Given the description of an element on the screen output the (x, y) to click on. 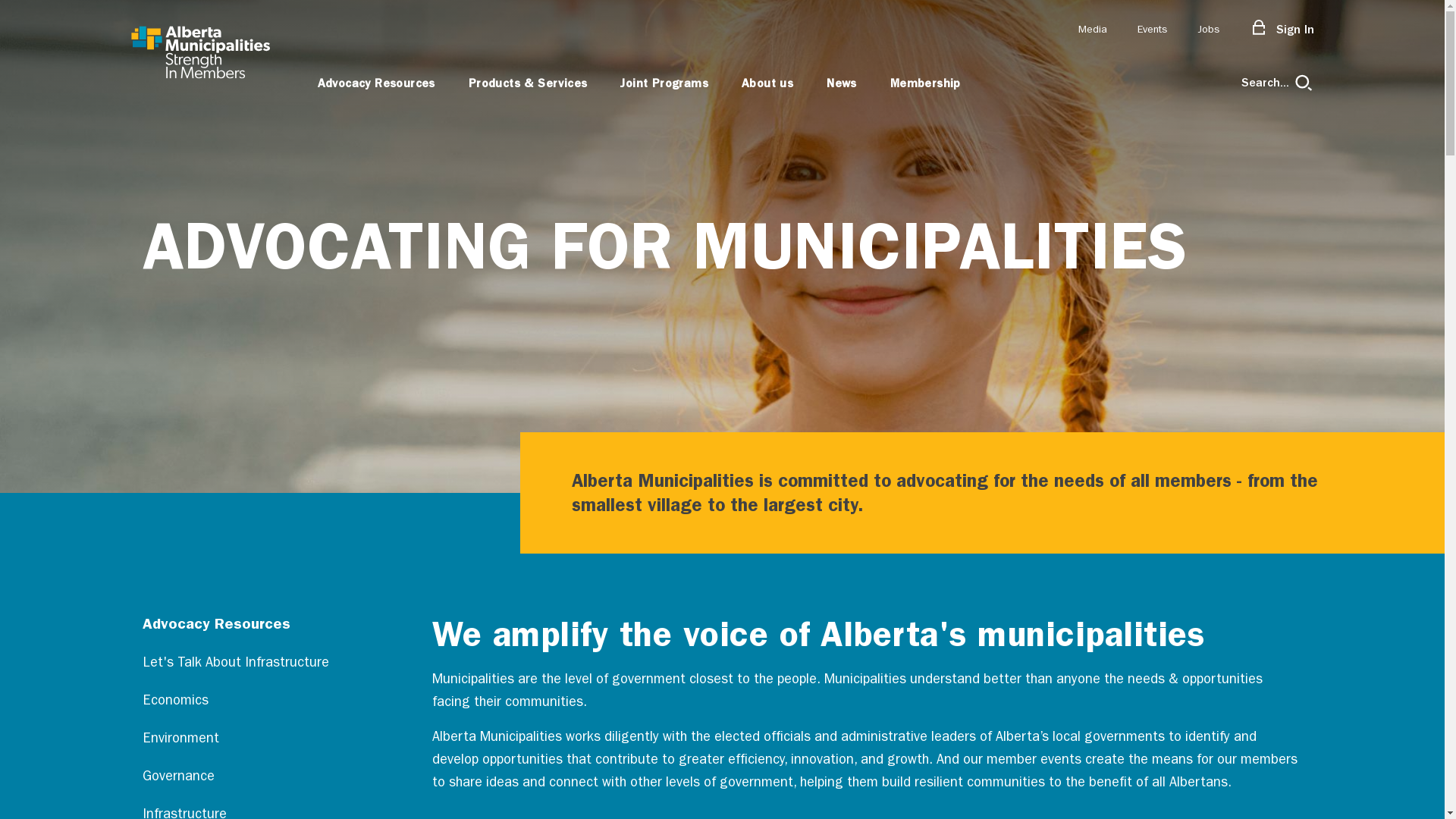
About us Element type: text (766, 82)
Environment Element type: text (242, 738)
Advocacy Resources Element type: text (375, 82)
Jobs Element type: text (1207, 29)
Joint Programs Element type: text (663, 82)
Sign In Element type: text (1281, 29)
Governance Element type: text (242, 776)
Search... Element type: text (1276, 82)
Membership Element type: text (925, 82)
Advocacy Resources Element type: text (242, 623)
SKIP TO MAIN CONTENT Element type: text (17, 18)
Media Element type: text (1092, 29)
Events Element type: text (1152, 29)
News Element type: text (841, 82)
Let's Talk About Infrastructure Element type: text (242, 662)
Products & Services Element type: text (527, 82)
Economics Element type: text (242, 700)
